Given the description of an element on the screen output the (x, y) to click on. 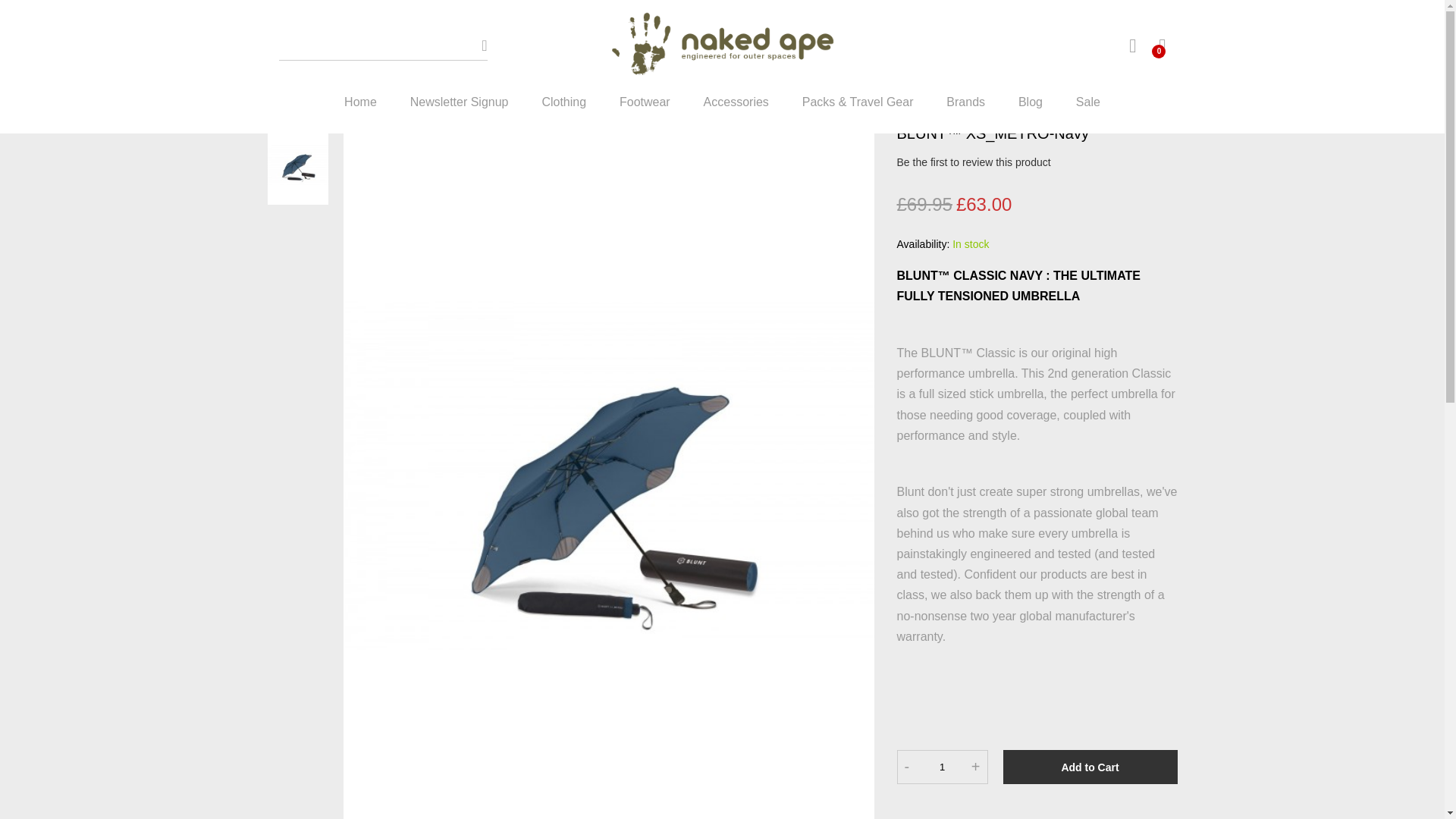
Search (483, 45)
Add to Cart (1090, 766)
Go to Home Page (293, 64)
1 (942, 766)
Qty (942, 766)
Naked Ape for Patagonia, Vibram Five Fingers (720, 45)
